Given the description of an element on the screen output the (x, y) to click on. 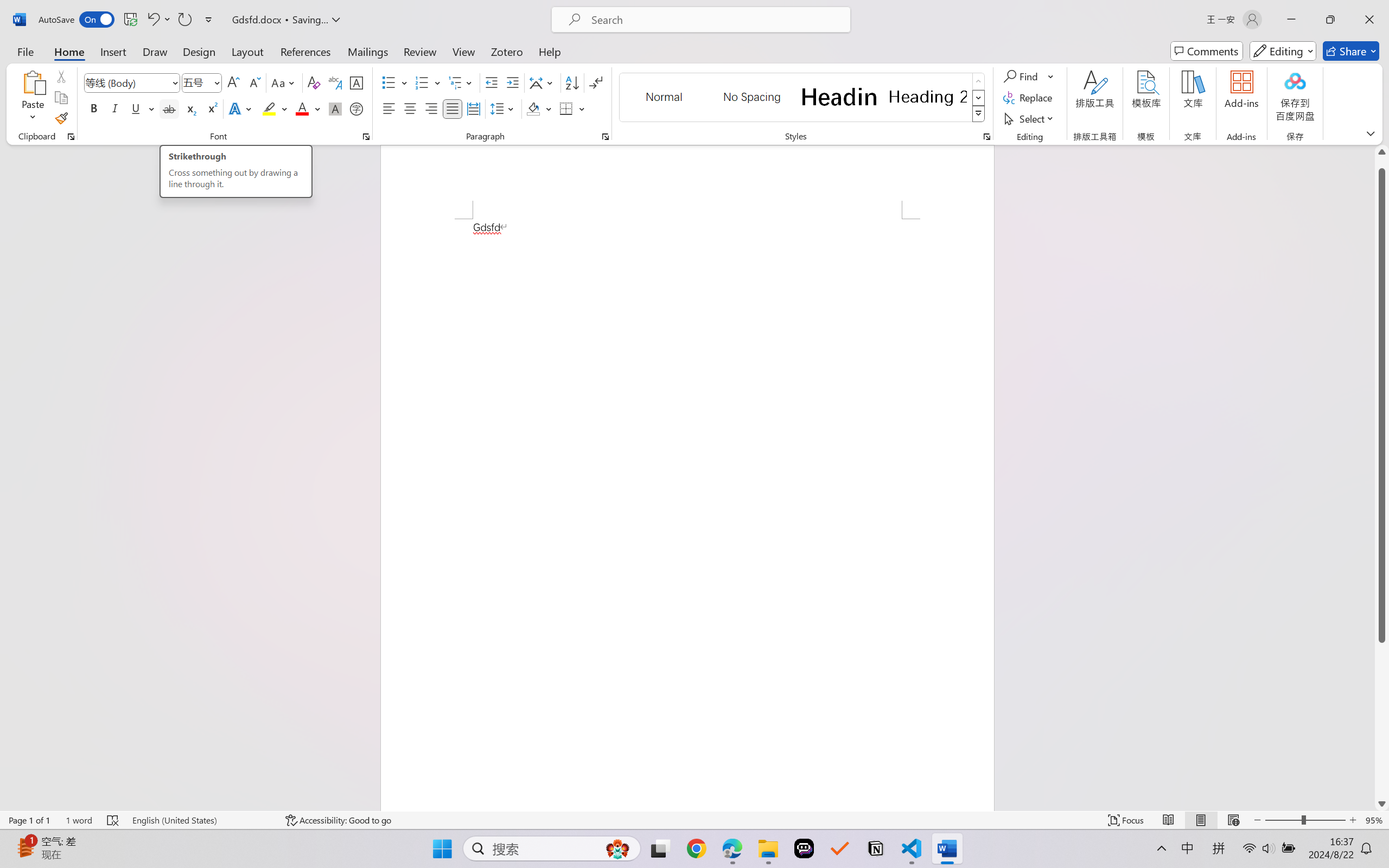
Select (1030, 118)
Microsoft search (715, 19)
Undo Style (152, 19)
Undo Style (158, 19)
Grow Font (233, 82)
Office Clipboard... (70, 136)
